Given the description of an element on the screen output the (x, y) to click on. 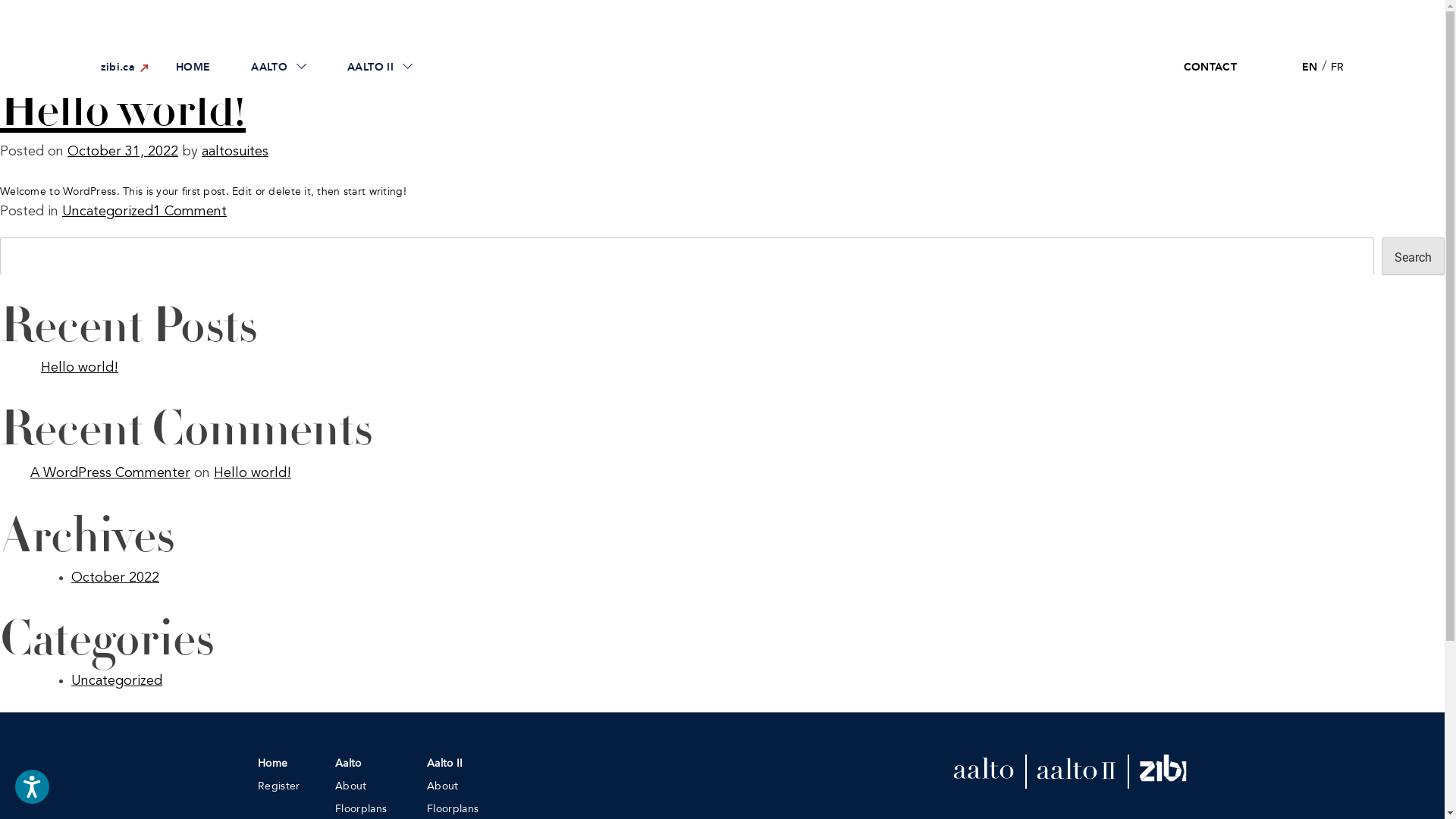
Uncategorized Element type: text (107, 211)
October 2022 Element type: text (115, 577)
Floorplans Element type: text (361, 809)
Search Element type: text (1412, 256)
Hello world! Element type: text (79, 367)
FR Element type: text (1337, 66)
Aalto II Element type: text (444, 763)
Home Element type: text (272, 763)
1 Comment
on Hello world! Element type: text (189, 211)
October 31, 2022 Element type: text (122, 151)
Aalto Element type: text (348, 763)
HOME Element type: text (192, 66)
Floorplans Element type: text (452, 809)
About Element type: text (351, 786)
Uncategorized Element type: text (116, 680)
Register Element type: text (278, 786)
aaltosuites Element type: text (234, 151)
A WordPress Commenter Element type: text (110, 473)
About Element type: text (442, 786)
CONTACT Element type: text (1209, 66)
EN Element type: text (1309, 66)
AALTO Element type: text (278, 66)
Hello world! Element type: text (252, 473)
AALTO II Element type: text (379, 66)
zibi.ca Element type: text (117, 66)
Hello world! Element type: text (122, 109)
